Given the description of an element on the screen output the (x, y) to click on. 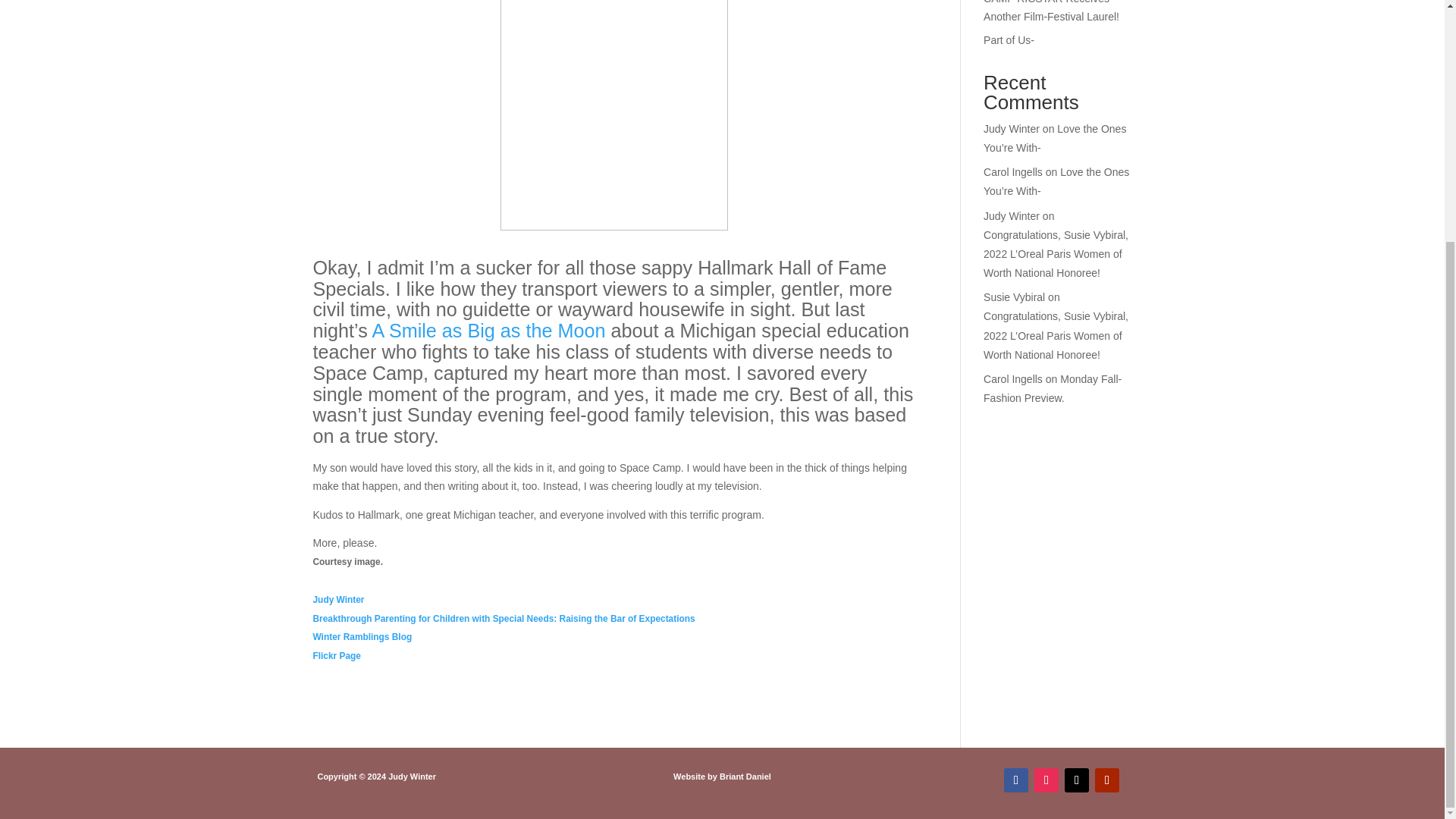
Follow on Youtube (1106, 780)
Follow on Facebook (1015, 780)
Follow on Instagram (1045, 780)
Follow on X (1076, 780)
